Given the description of an element on the screen output the (x, y) to click on. 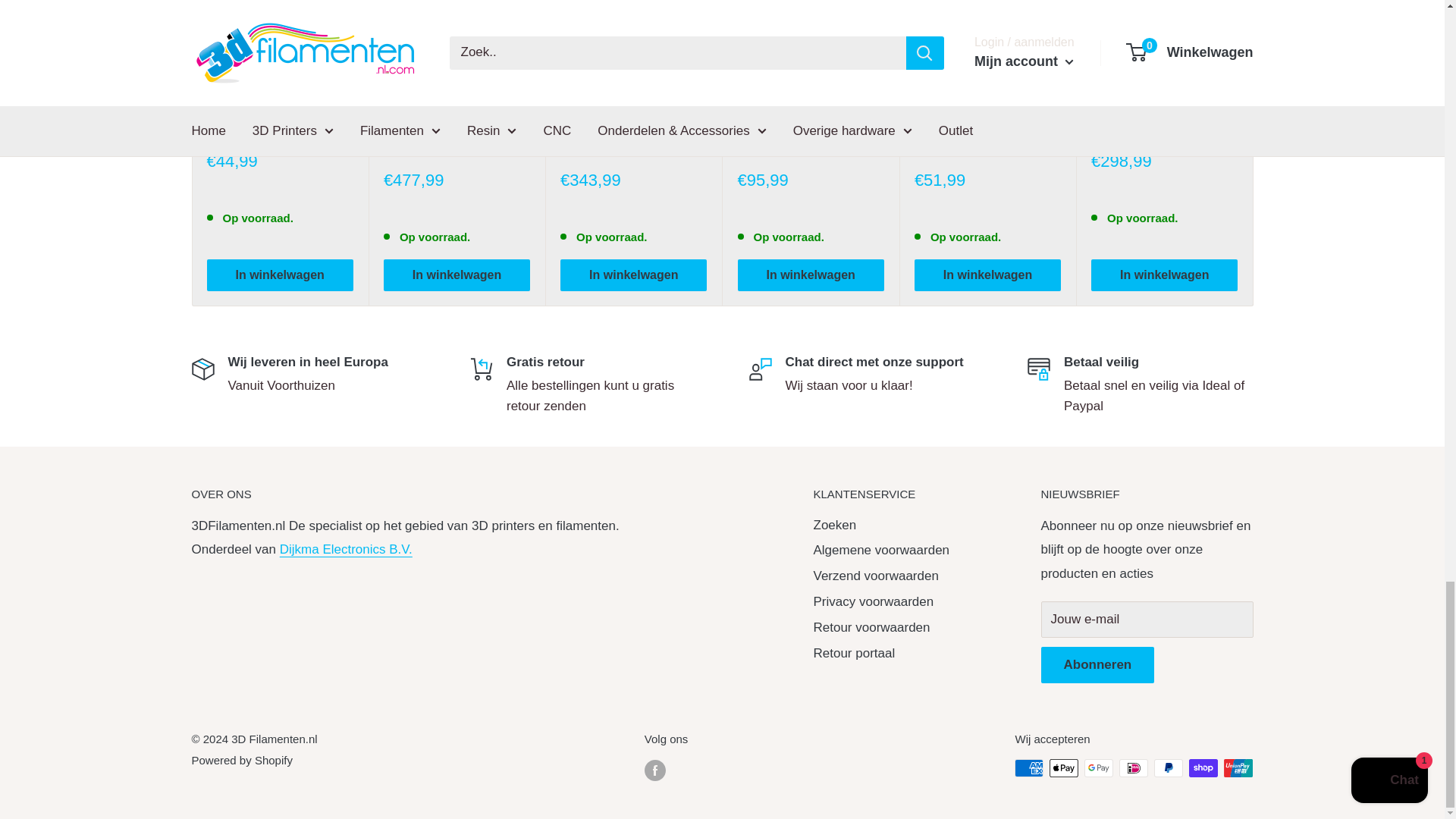
dijkma electronics (345, 549)
